Given the description of an element on the screen output the (x, y) to click on. 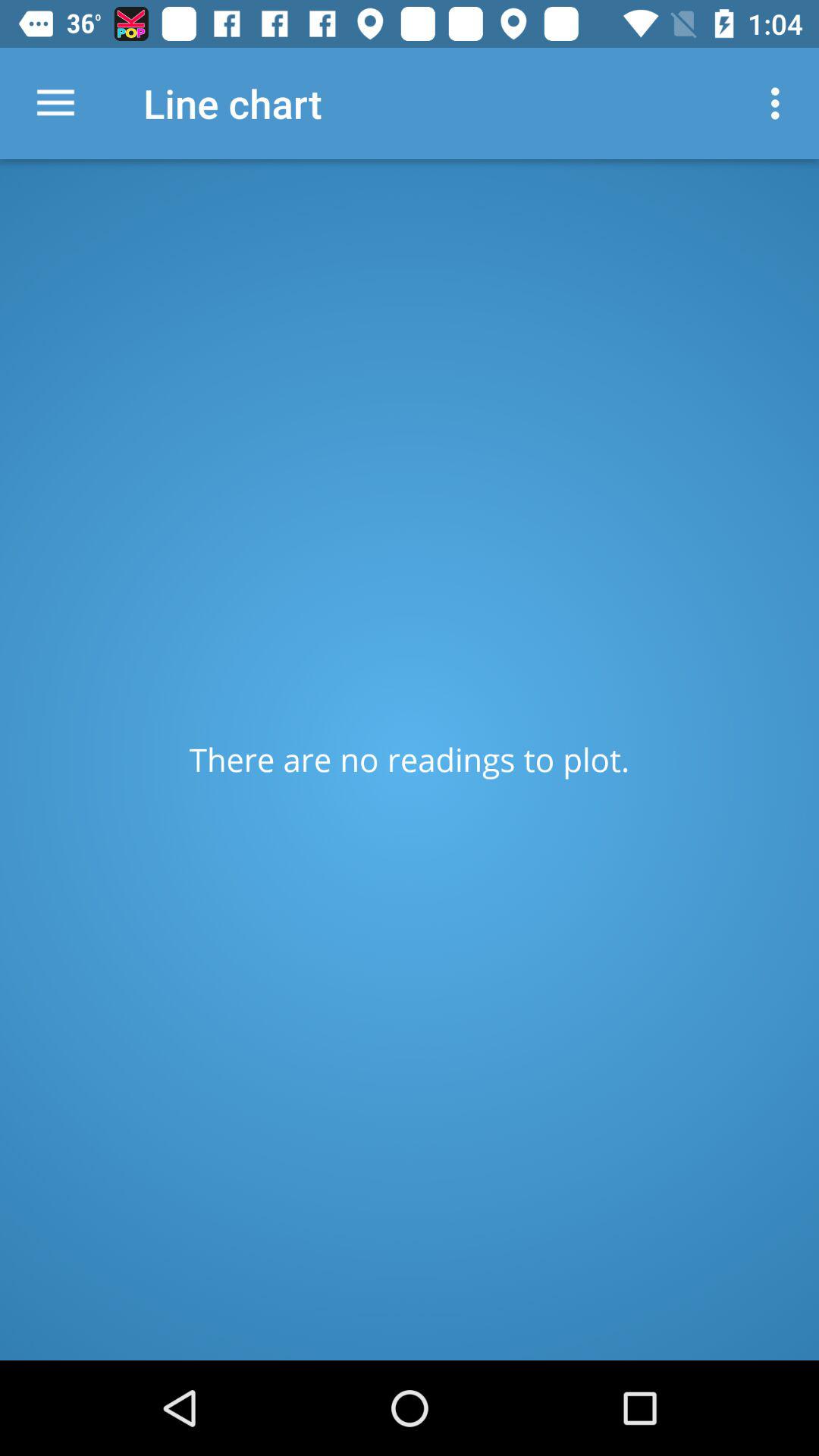
choose icon to the right of line chart icon (779, 103)
